Given the description of an element on the screen output the (x, y) to click on. 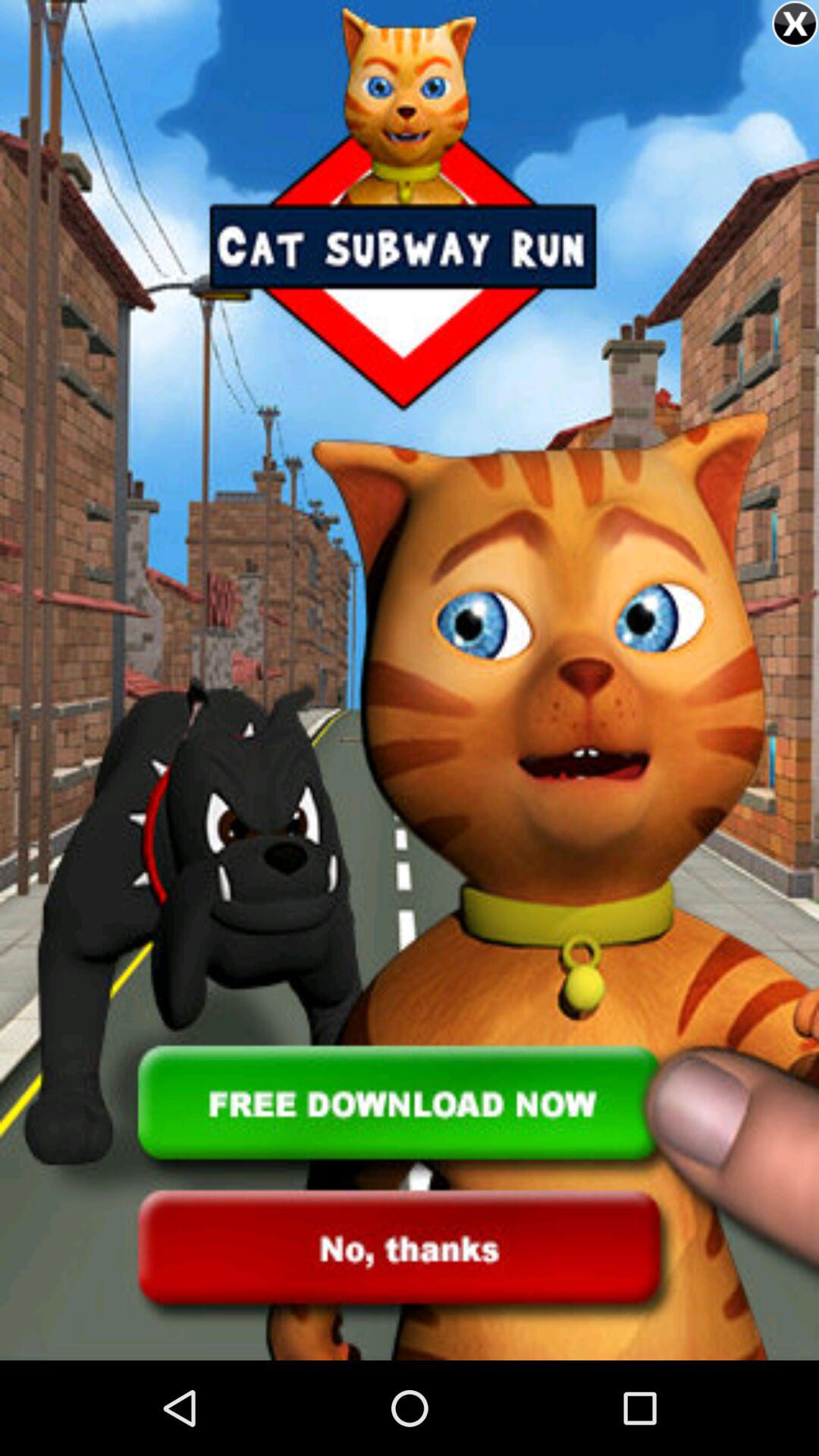
close button (795, 23)
